Given the description of an element on the screen output the (x, y) to click on. 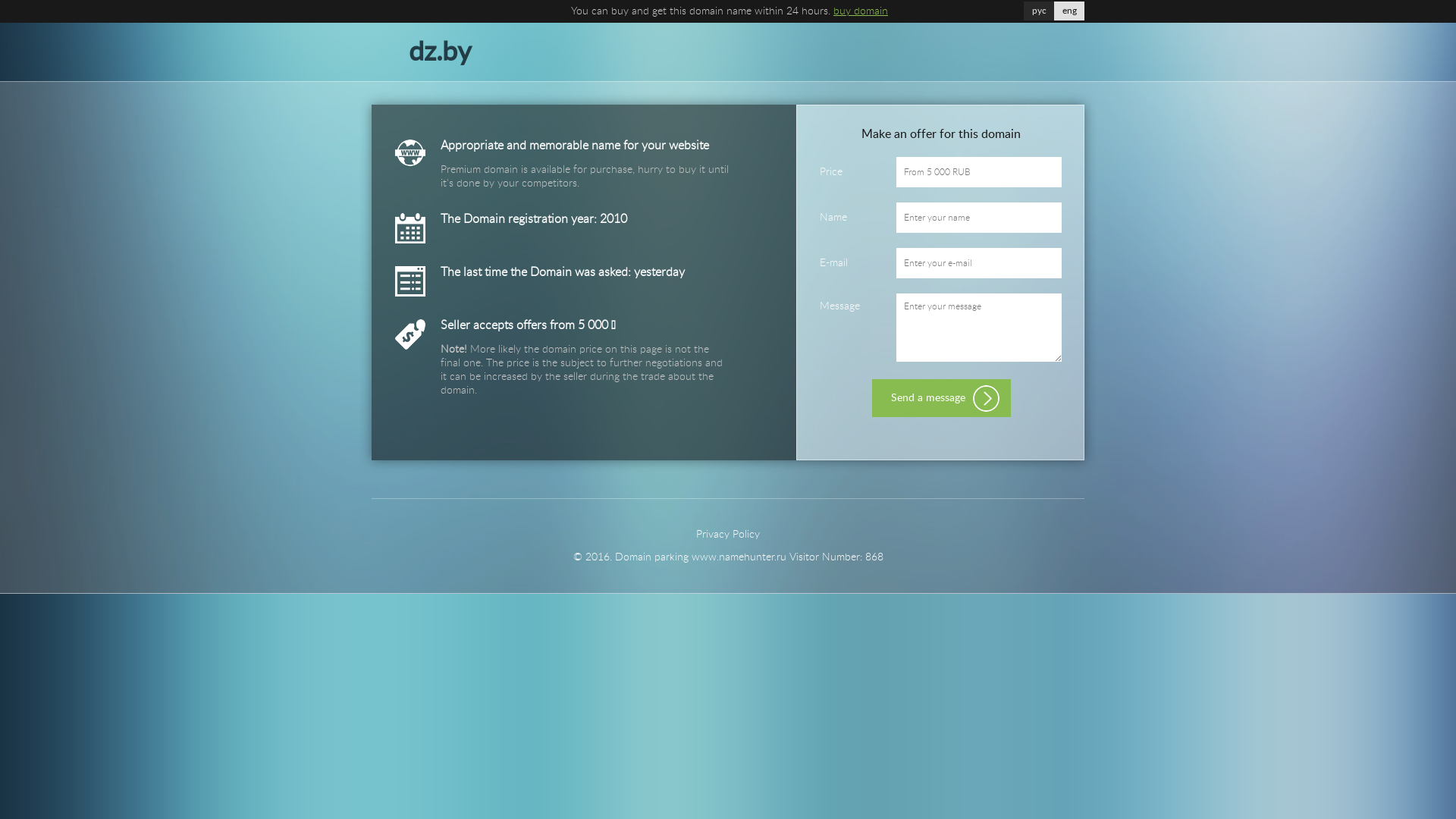
buy domain Element type: text (860, 11)
www.namehunter.ru Element type: text (738, 557)
Privacy Policy Element type: text (727, 534)
Send a message Element type: text (941, 398)
